Given the description of an element on the screen output the (x, y) to click on. 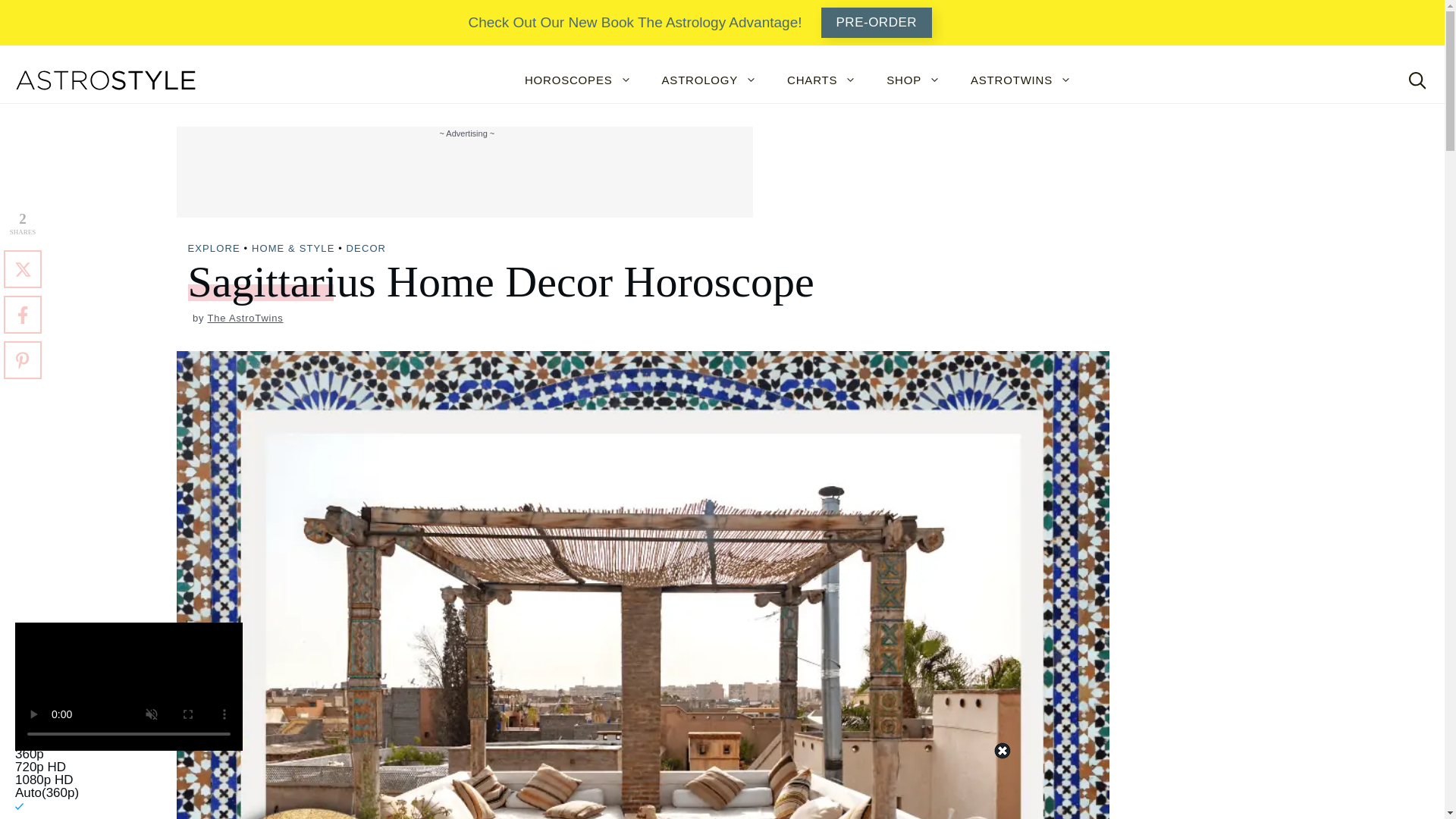
View all posts by The AstroTwins (245, 317)
Check Out Our New Book The Astrology Advantage! (634, 23)
PRE-ORDER (877, 22)
3rd party ad content (463, 175)
ASTROLOGY (709, 80)
HOROSCOPES (577, 80)
3rd party ad content (726, 785)
CHARTS (820, 80)
